Given the description of an element on the screen output the (x, y) to click on. 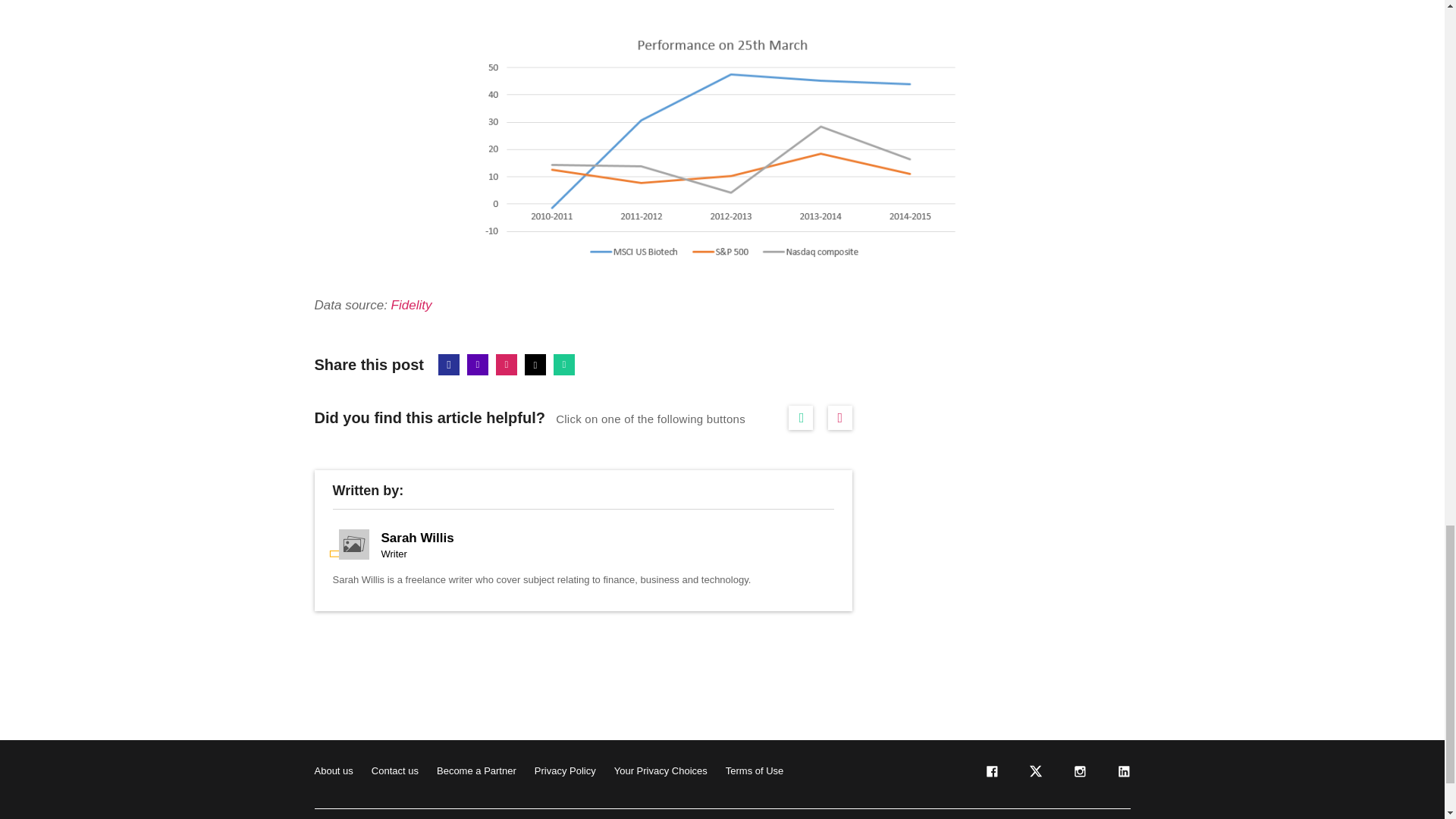
facebook (990, 774)
Facebook (449, 364)
Linkedin (477, 364)
Twitter-x (535, 364)
Flipboard (506, 364)
Whatsapp (564, 364)
linkedin (1122, 774)
twitter-x (1034, 774)
instagram (1078, 774)
